Given the description of an element on the screen output the (x, y) to click on. 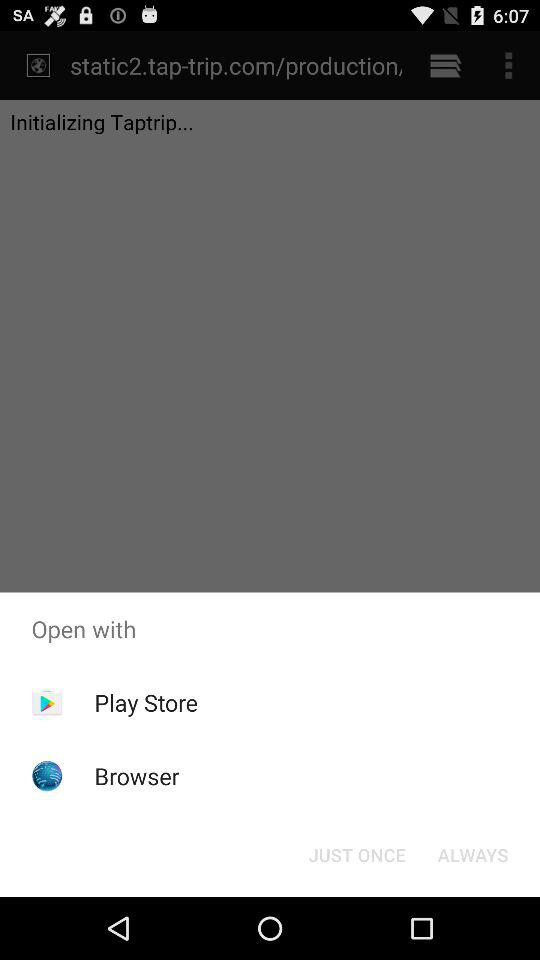
tap the item next to the always button (356, 854)
